Given the description of an element on the screen output the (x, y) to click on. 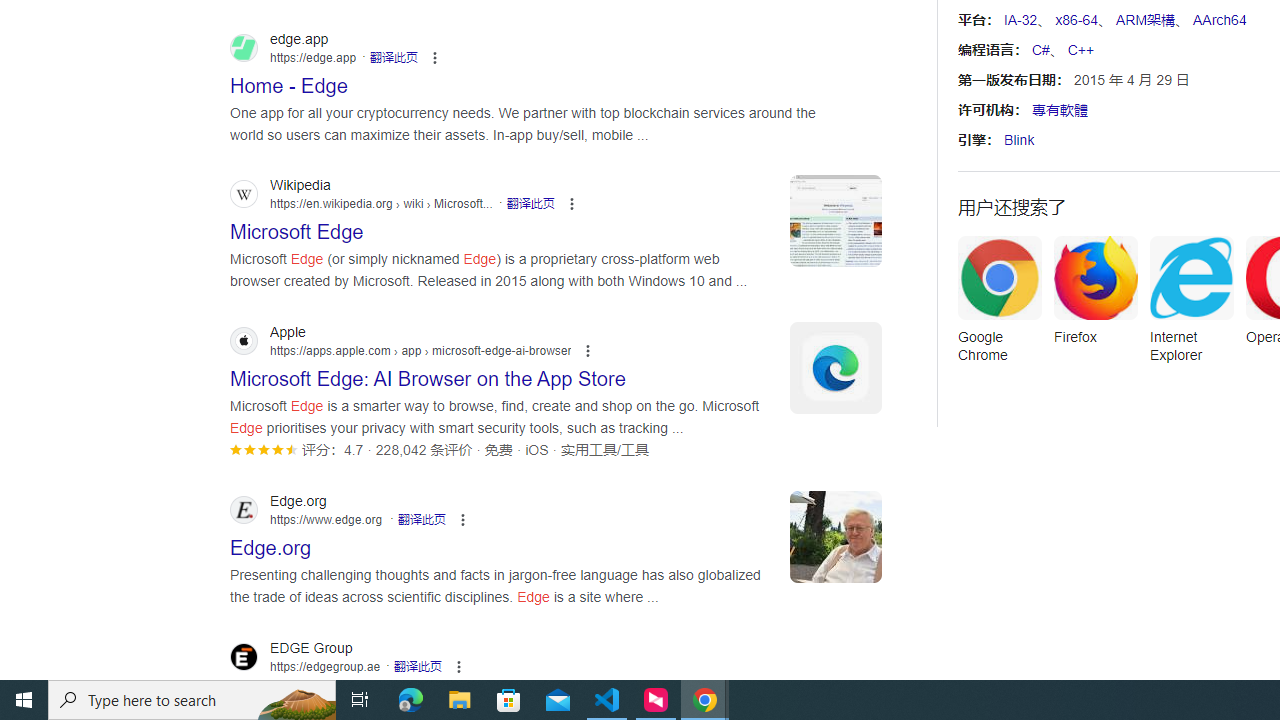
C++ (1080, 49)
Blink (1019, 139)
Firefox (1095, 296)
 Edge.org Edge.org https://www.edge.org (271, 542)
